Given the description of an element on the screen output the (x, y) to click on. 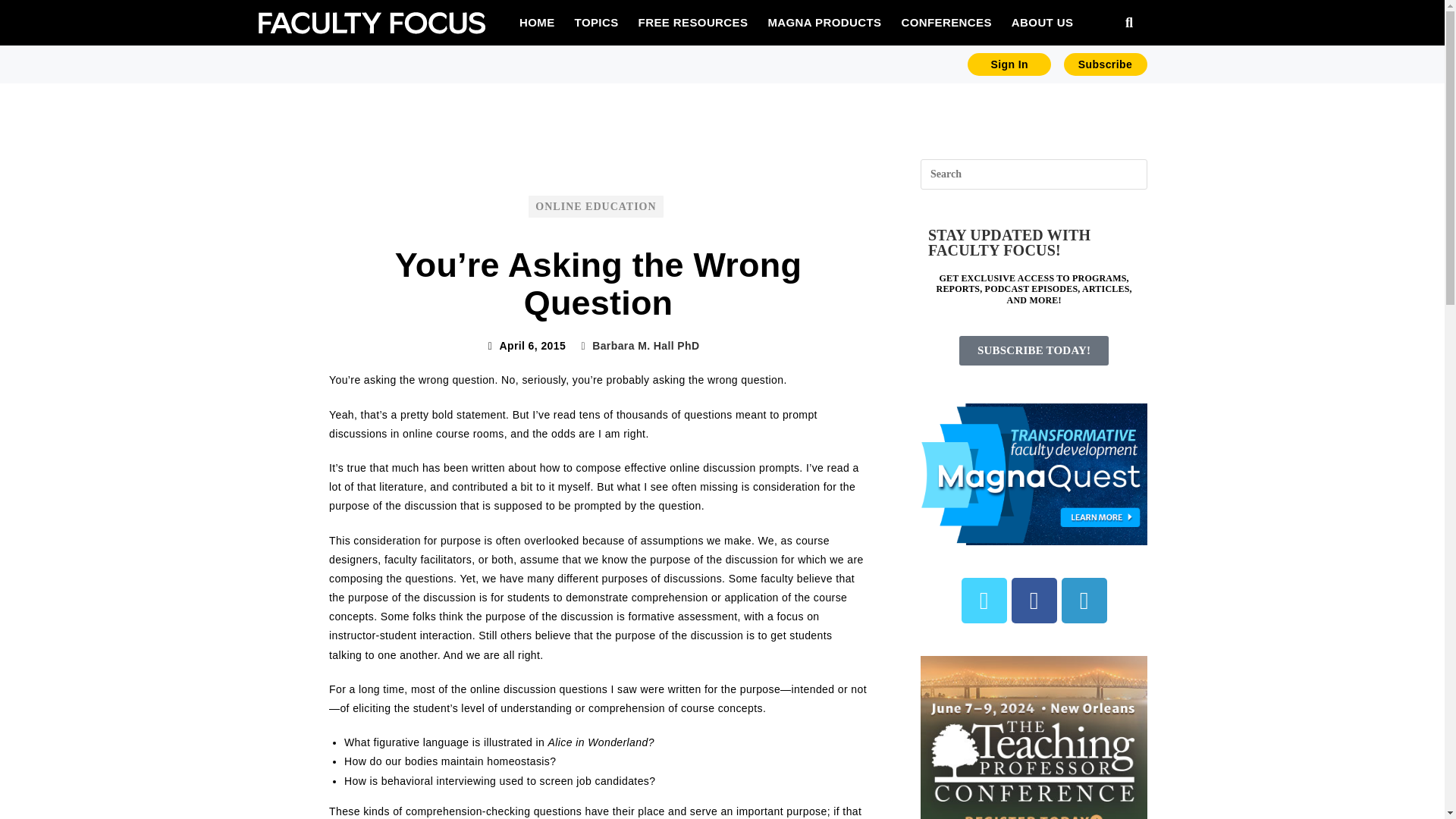
ABOUT US (1042, 22)
MAGNA PRODUCTS (824, 22)
FREE RESOURCES (693, 22)
TOPICS (596, 22)
CONFERENCES (945, 22)
HOME (536, 22)
